Given the description of an element on the screen output the (x, y) to click on. 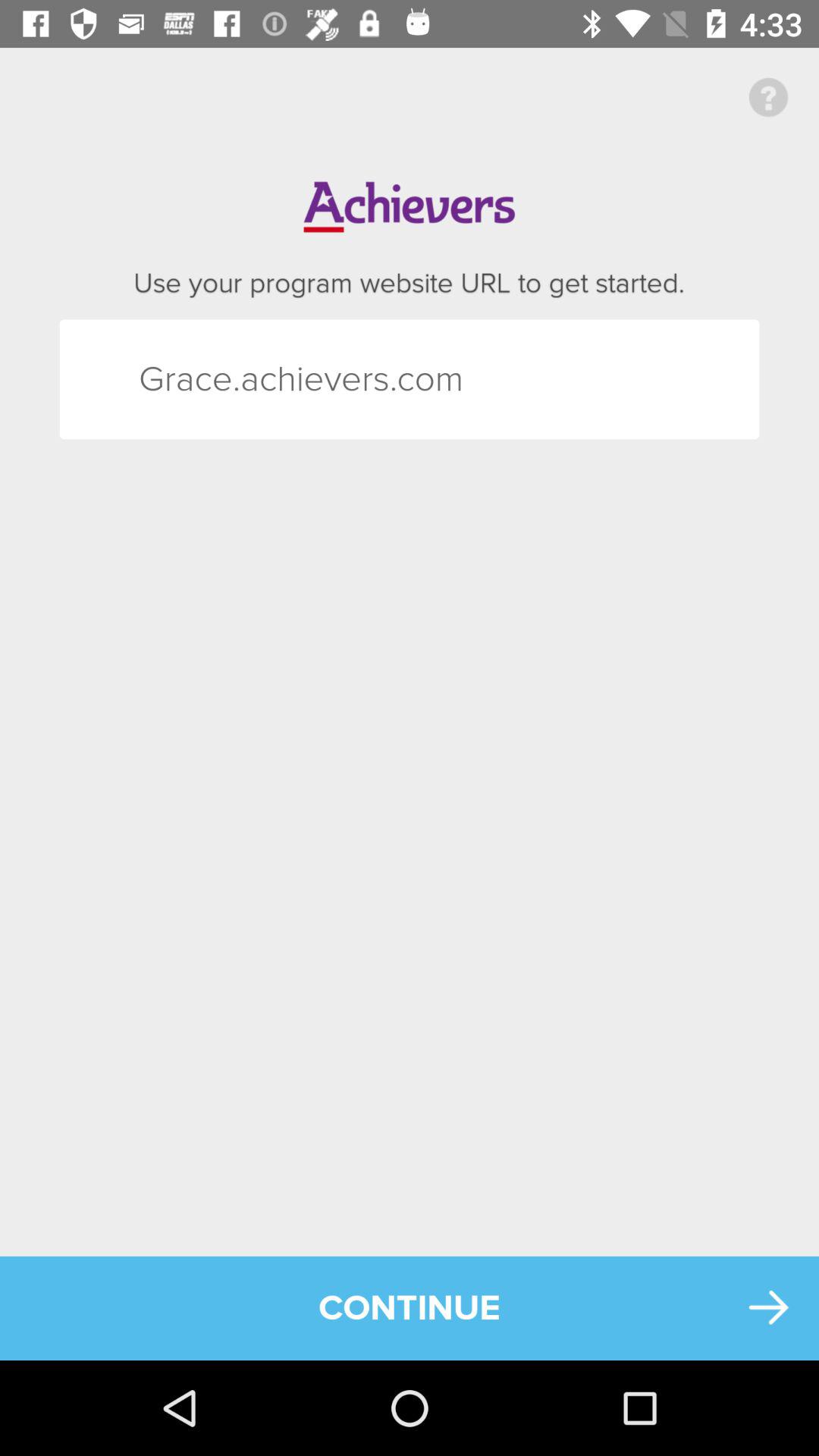
press the icon next to .achievers.com icon (165, 379)
